Given the description of an element on the screen output the (x, y) to click on. 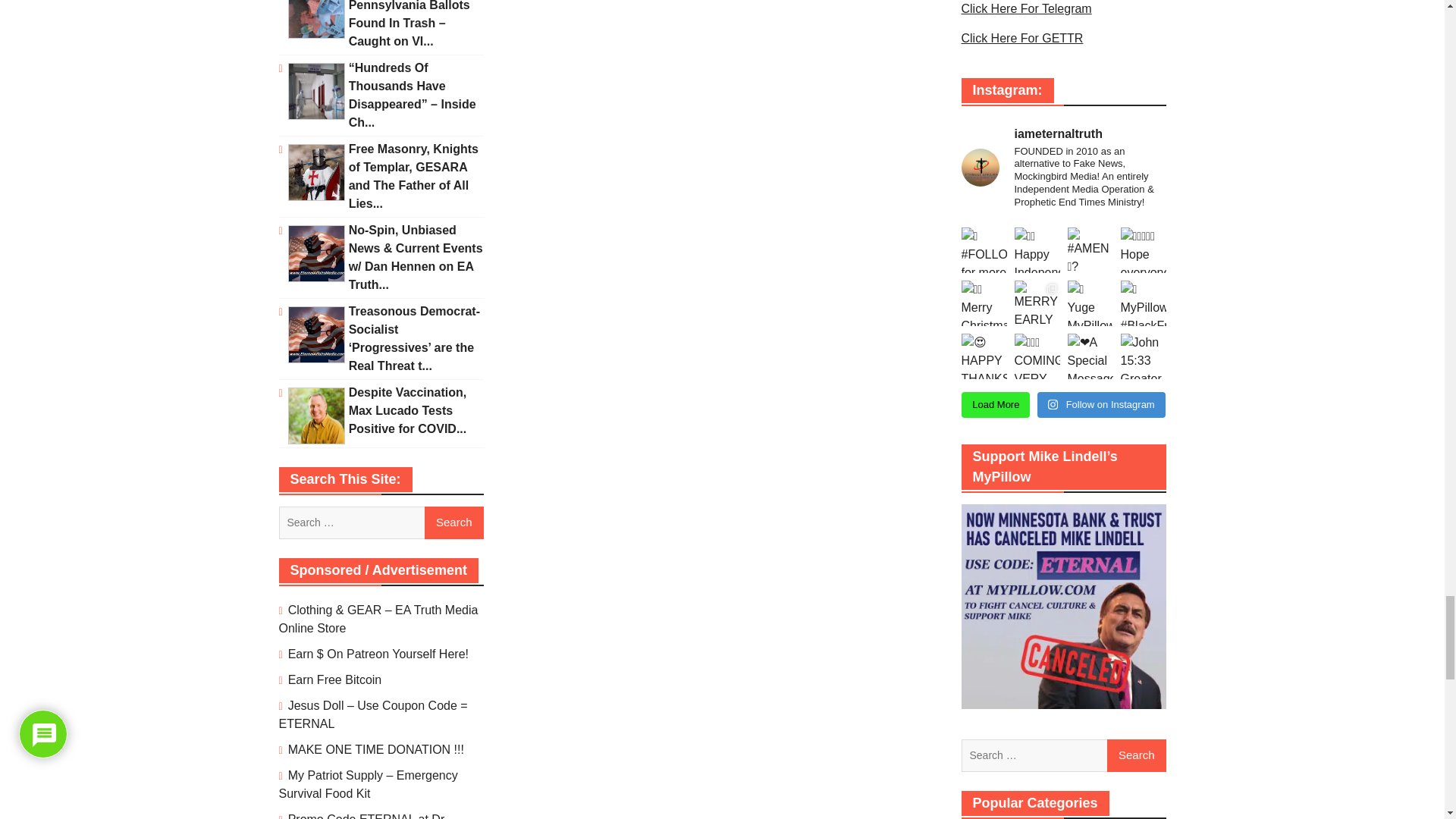
Search (454, 522)
Search (454, 522)
Search (1136, 756)
Search (1136, 756)
